Given the description of an element on the screen output the (x, y) to click on. 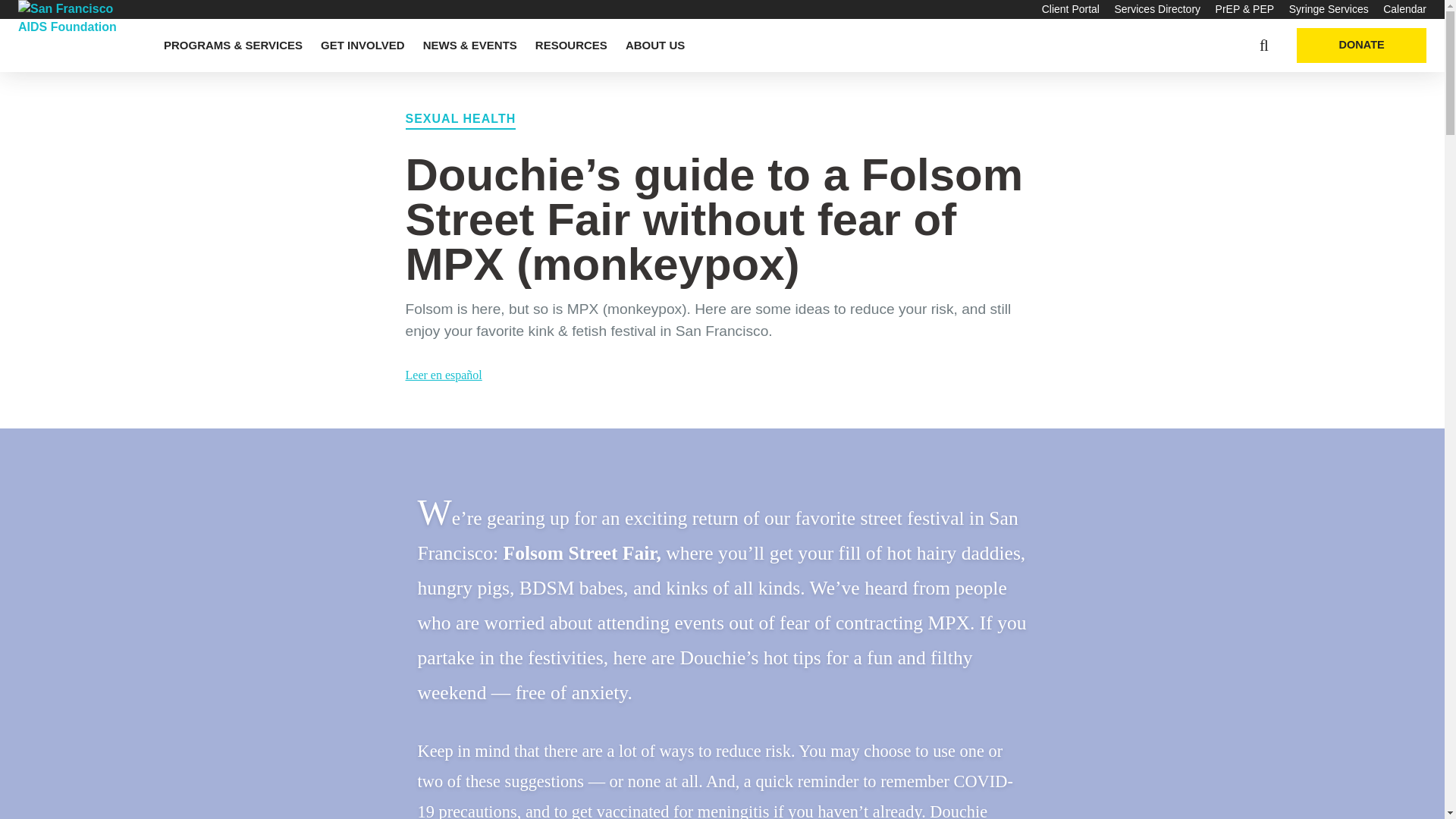
Client Portal (1070, 9)
DONATE (1361, 45)
GET INVOLVED (362, 45)
Services Directory (1156, 9)
RESOURCES (571, 45)
ABOUT US (655, 45)
Syringe Services (1328, 9)
Calendar (1404, 9)
